Given the description of an element on the screen output the (x, y) to click on. 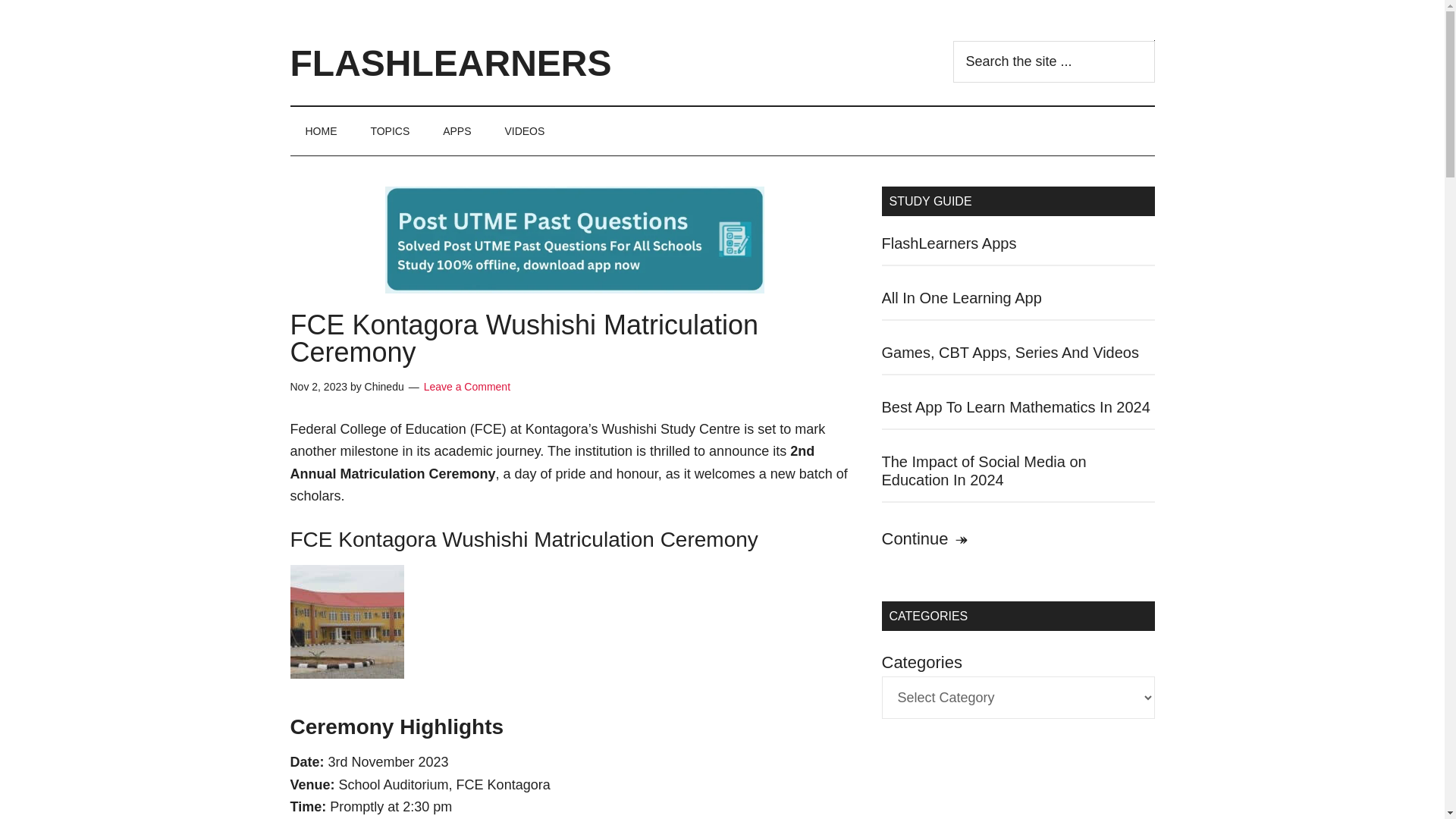
TOPICS (390, 131)
IoT products (346, 621)
Flashlearners (320, 131)
The Impact of Social Media on Education In 2024 (983, 470)
APPS (457, 131)
FlashLearners Apps (948, 243)
Leave a Comment (467, 386)
Games, CBT Apps, Series And Videos (1009, 352)
VIDEOS (524, 131)
Categories (390, 131)
HOME (320, 131)
Study (924, 538)
All In One Learning App (960, 297)
